Given the description of an element on the screen output the (x, y) to click on. 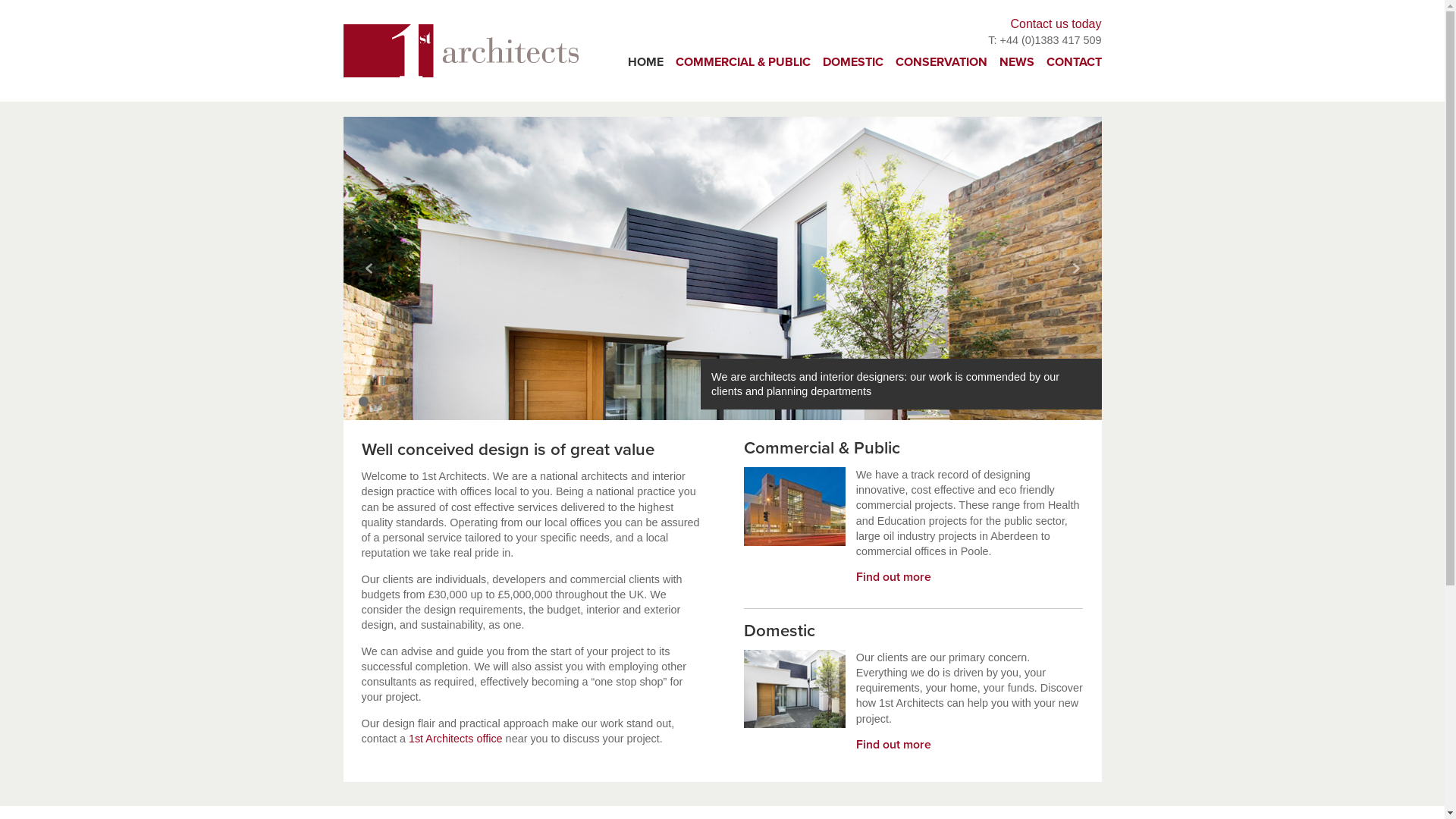
CONTACT Element type: text (1073, 62)
HOME Element type: text (645, 62)
DOMESTIC Element type: text (852, 62)
COMMERCIAL & PUBLIC Element type: text (741, 62)
1st Architects office Element type: text (455, 738)
1 Element type: text (362, 401)
2 Element type: text (376, 401)
Find out more Element type: text (893, 744)
NEWS Element type: text (1016, 62)
3 Element type: text (390, 401)
CONSERVATION Element type: text (940, 62)
Contact us today Element type: text (1055, 23)
Next Element type: text (1074, 268)
4 Element type: text (403, 401)
Previous Element type: text (368, 268)
Find out more Element type: text (893, 576)
